Given the description of an element on the screen output the (x, y) to click on. 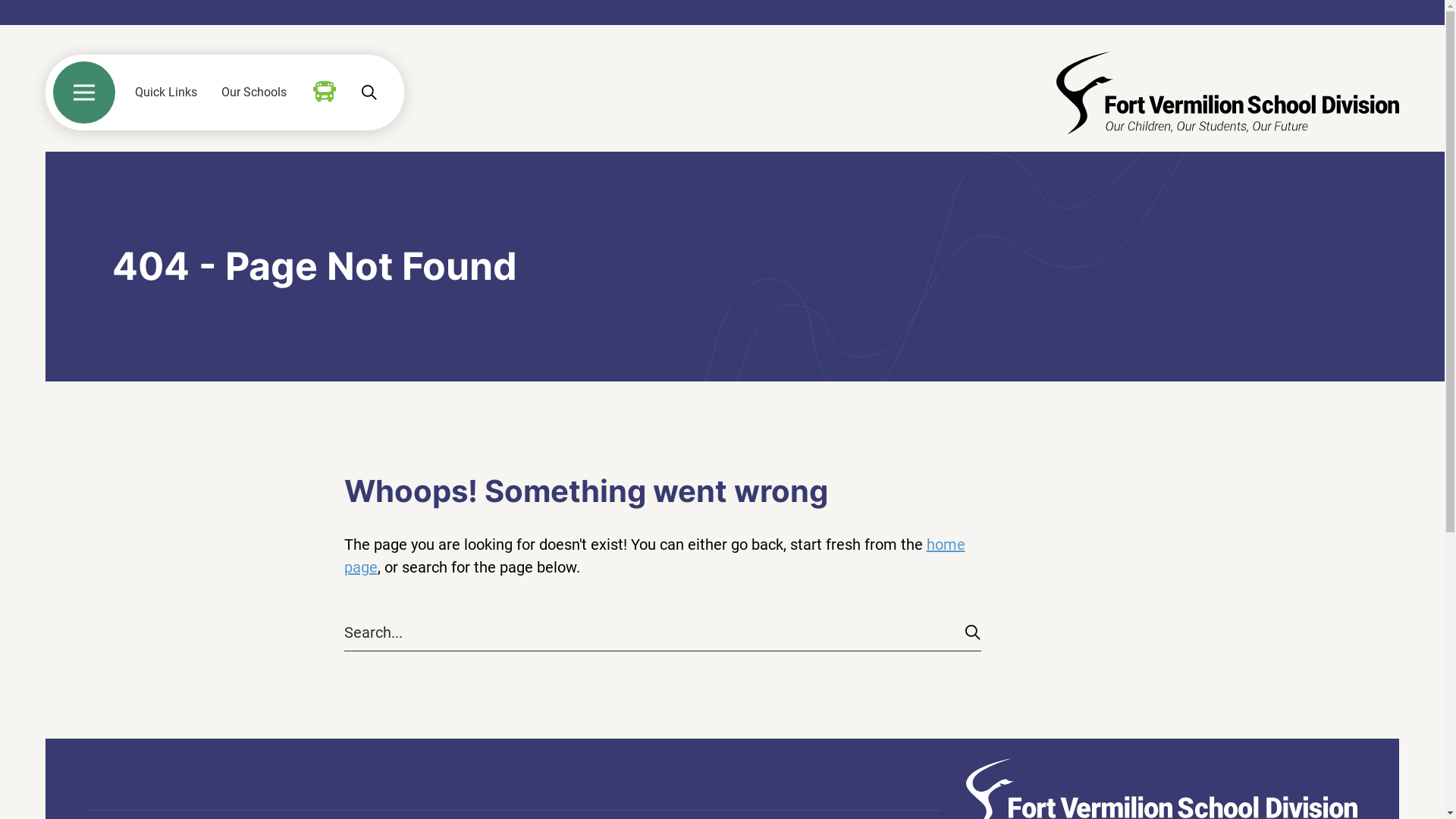
home page Element type: text (654, 555)
Our Schools Element type: text (253, 92)
Quick Links Element type: text (165, 92)
Fort Vermilion School Division Element type: hover (1227, 92)
Bus Status Element type: hover (324, 91)
Toggle Search Element type: text (369, 92)
Menu Element type: text (84, 92)
